Given the description of an element on the screen output the (x, y) to click on. 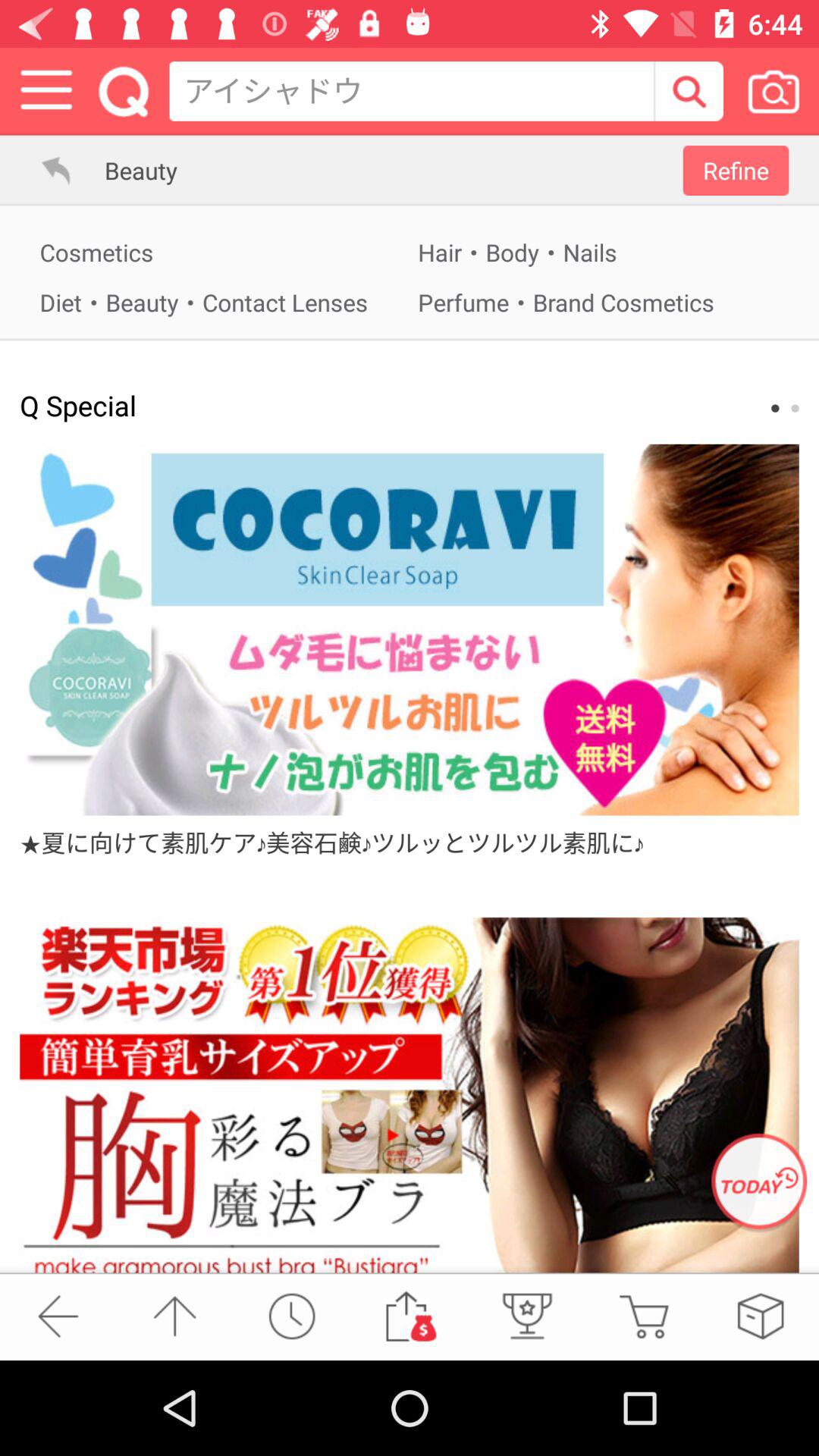
get a gift (525, 1316)
